Given the description of an element on the screen output the (x, y) to click on. 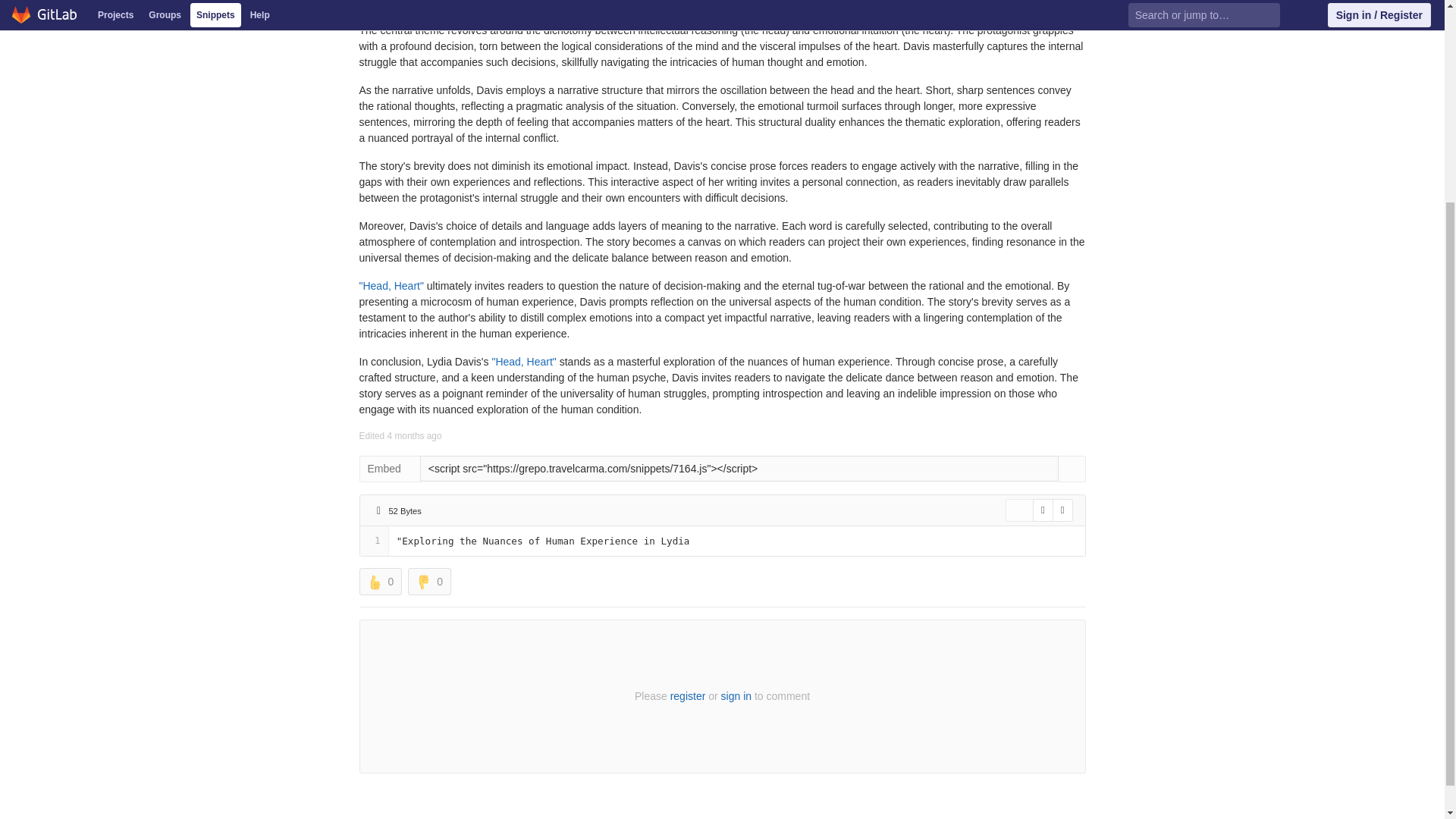
Copy to clipboard (1070, 468)
0 (381, 581)
0 (429, 581)
thumbs down sign (423, 581)
"Head, Heart" (391, 285)
"Head, Heart" (522, 361)
thumbs up sign (373, 581)
Copy file path to clipboard (441, 509)
1 (373, 540)
Open raw (1042, 509)
:thumbsup: (373, 581)
:thumbsdown: (423, 581)
Embed (389, 468)
Download (1062, 509)
